Given the description of an element on the screen output the (x, y) to click on. 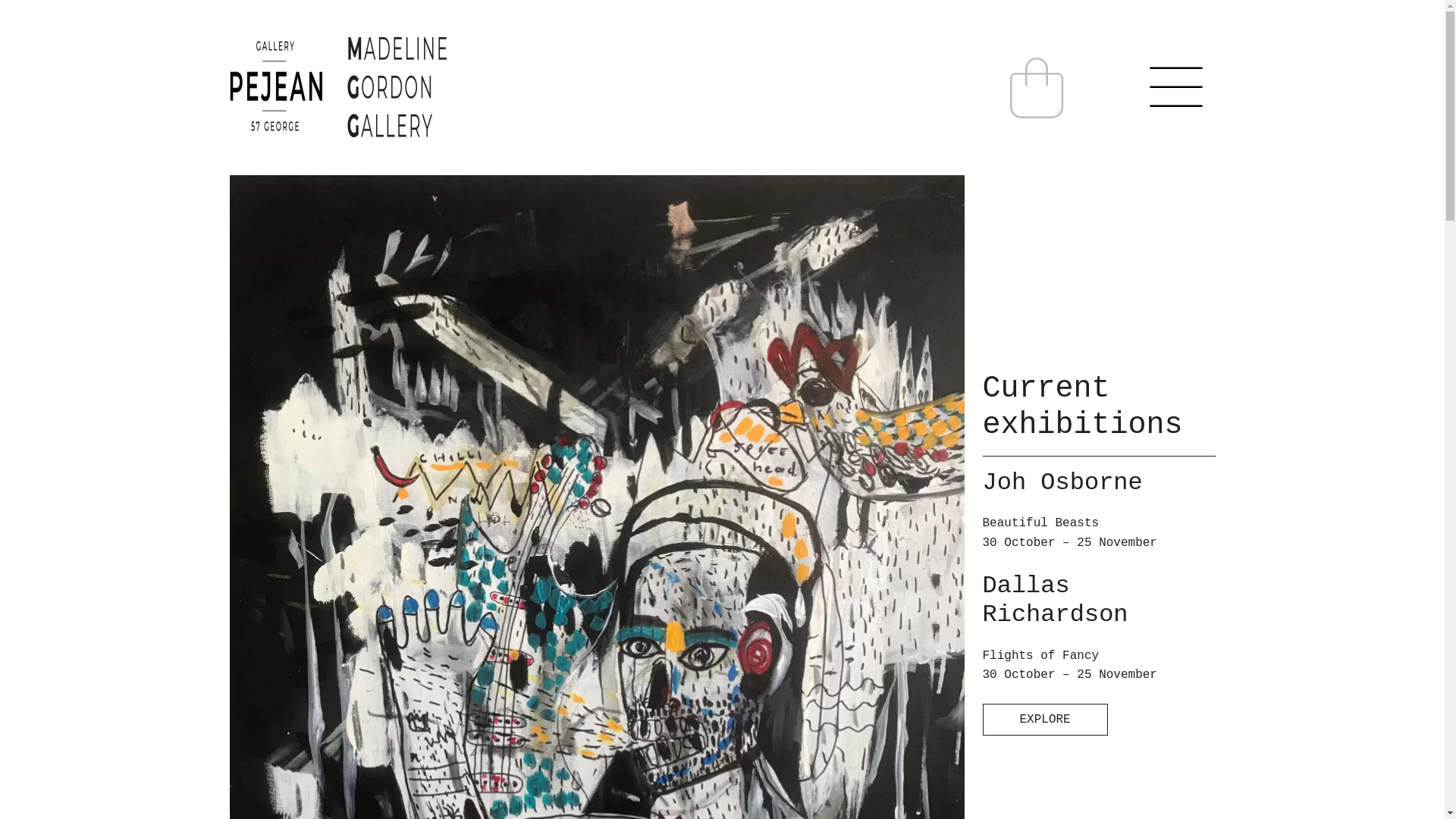
EXPLORE Element type: text (1044, 719)
